Given the description of an element on the screen output the (x, y) to click on. 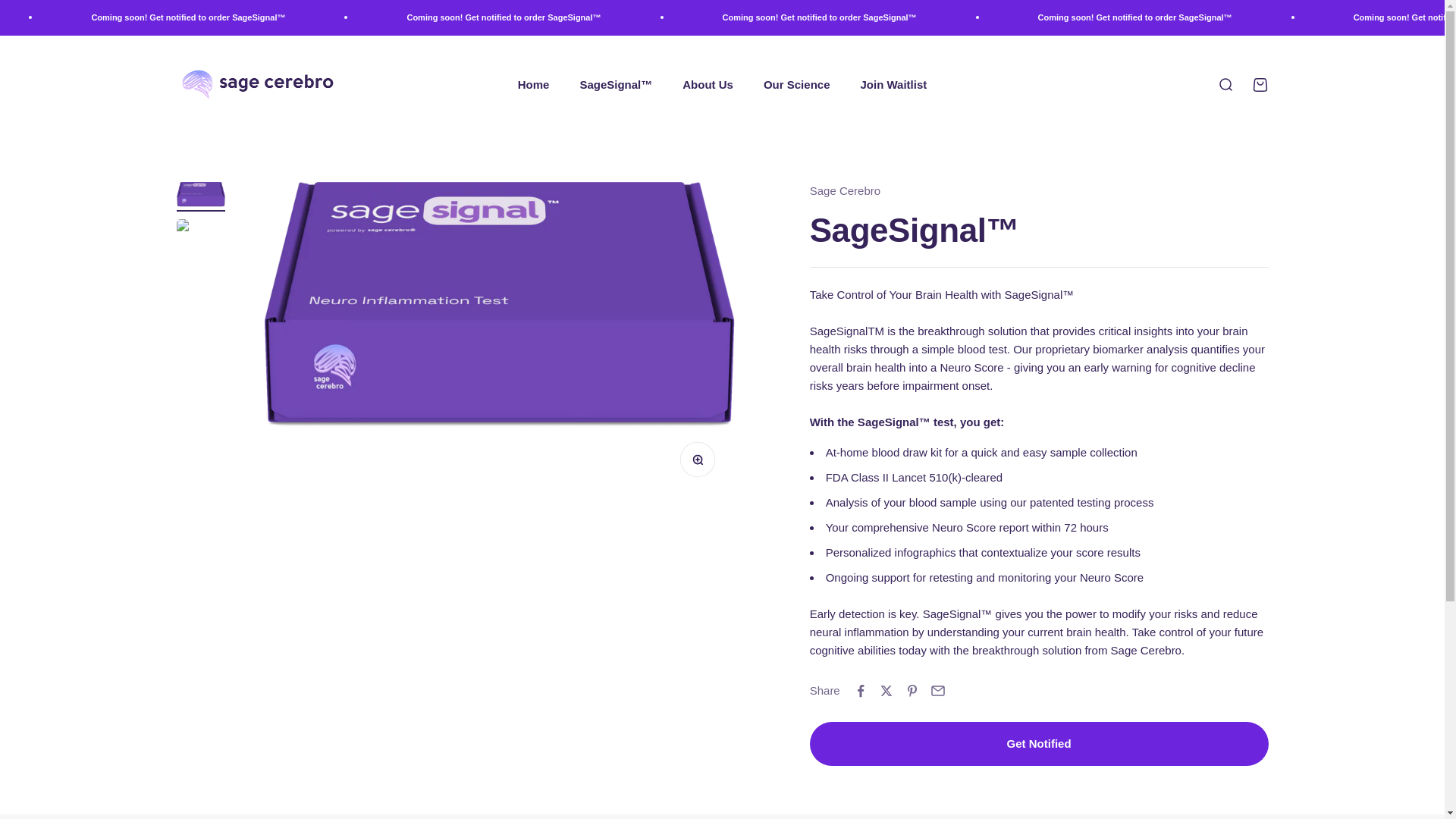
Sage Cerebro (257, 84)
Open cart (1259, 84)
Open search (1224, 84)
Sage Cerebro (844, 190)
Home (534, 83)
Zoom (700, 463)
Join Waitlist (893, 83)
About Us (707, 83)
Our Science (795, 83)
